Given the description of an element on the screen output the (x, y) to click on. 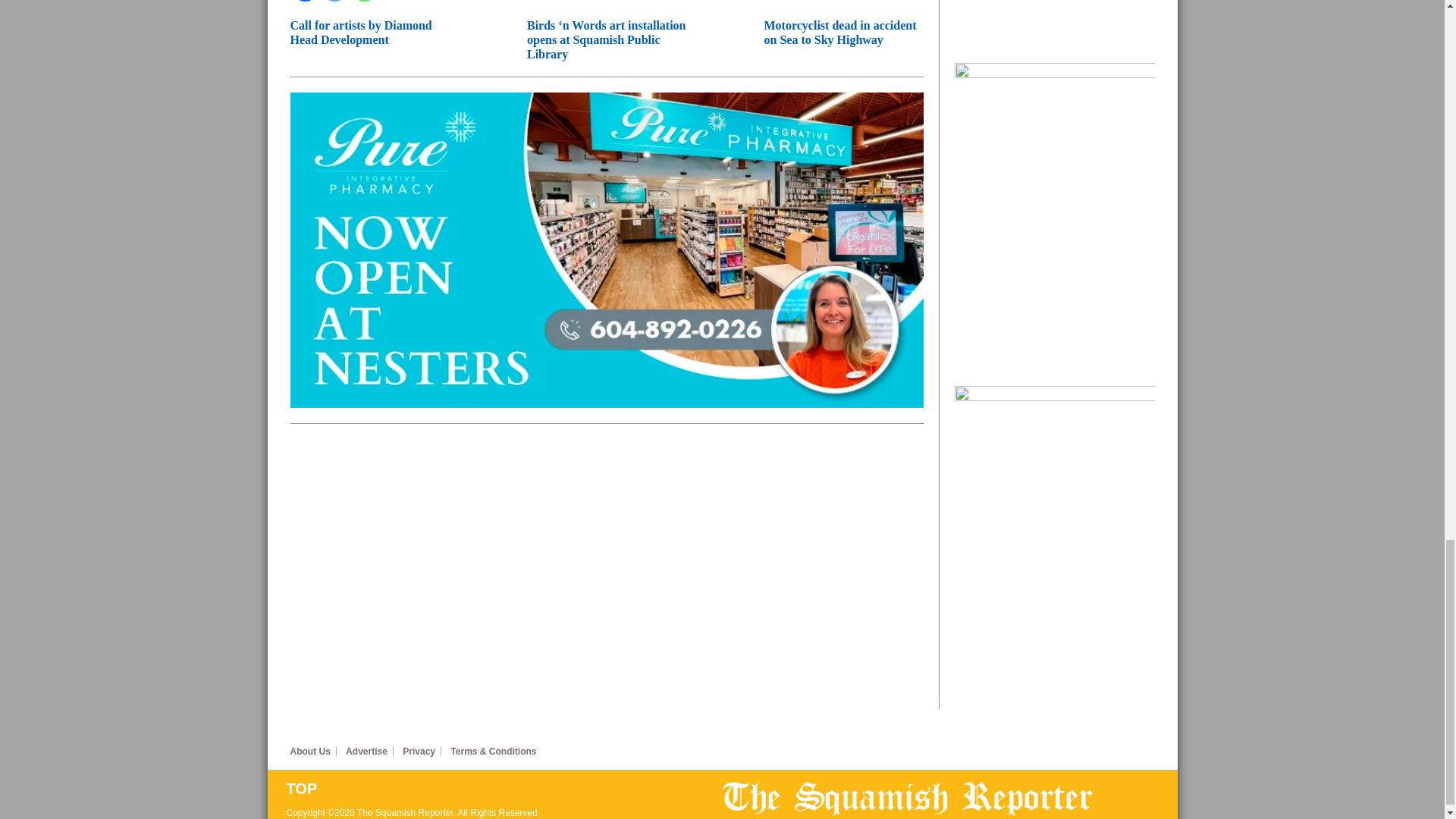
Privacy (422, 750)
About Us (312, 750)
TOP (504, 788)
Facebook (304, 0)
Back To Top (504, 788)
Advertise (369, 750)
Twitter (334, 0)
Whatsapp (363, 0)
